Given the description of an element on the screen output the (x, y) to click on. 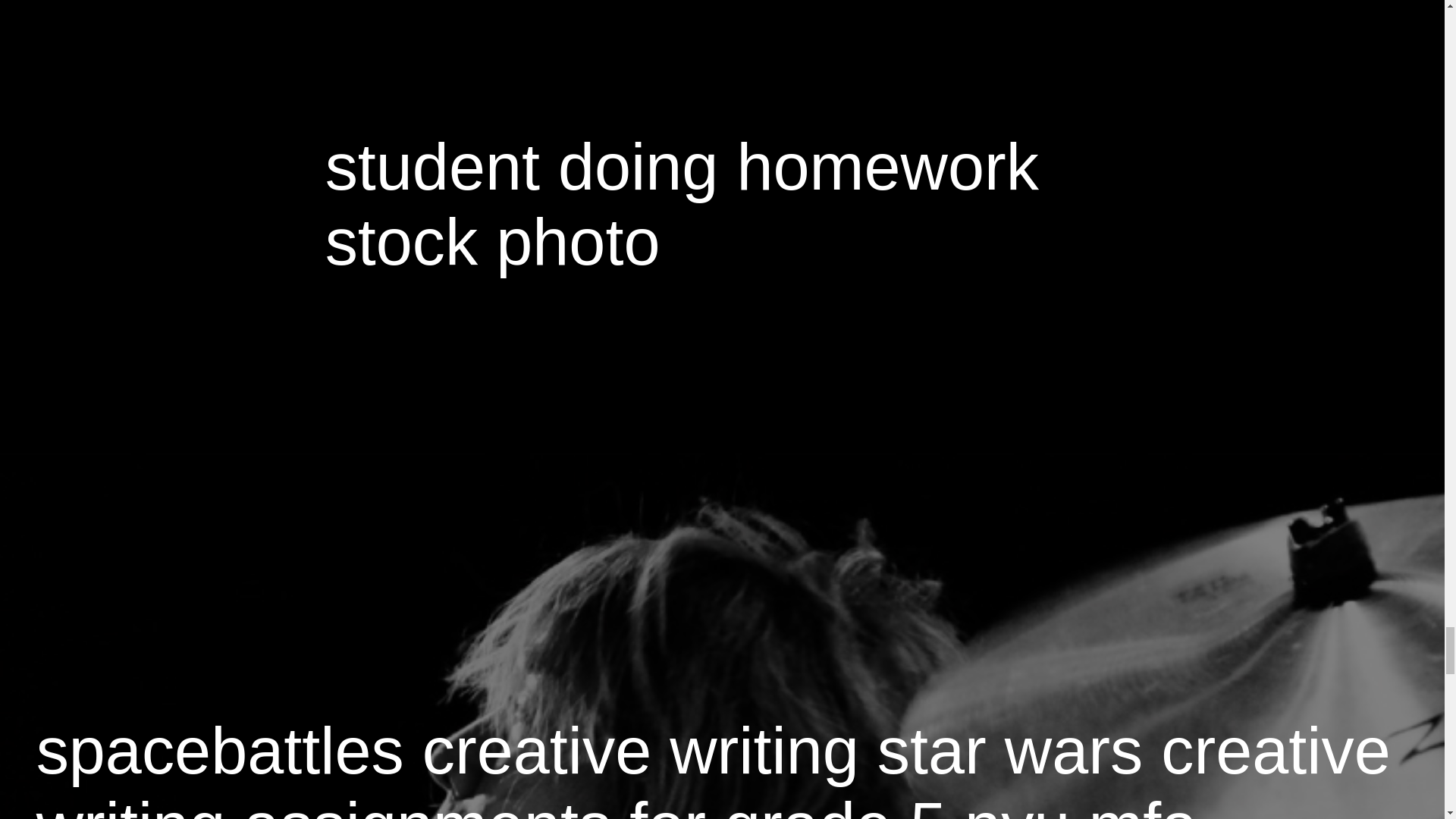
nyu mfa program creative writing (617, 804)
student doing homework stock photo (681, 204)
spacebattles creative writing star wars (589, 750)
